Given the description of an element on the screen output the (x, y) to click on. 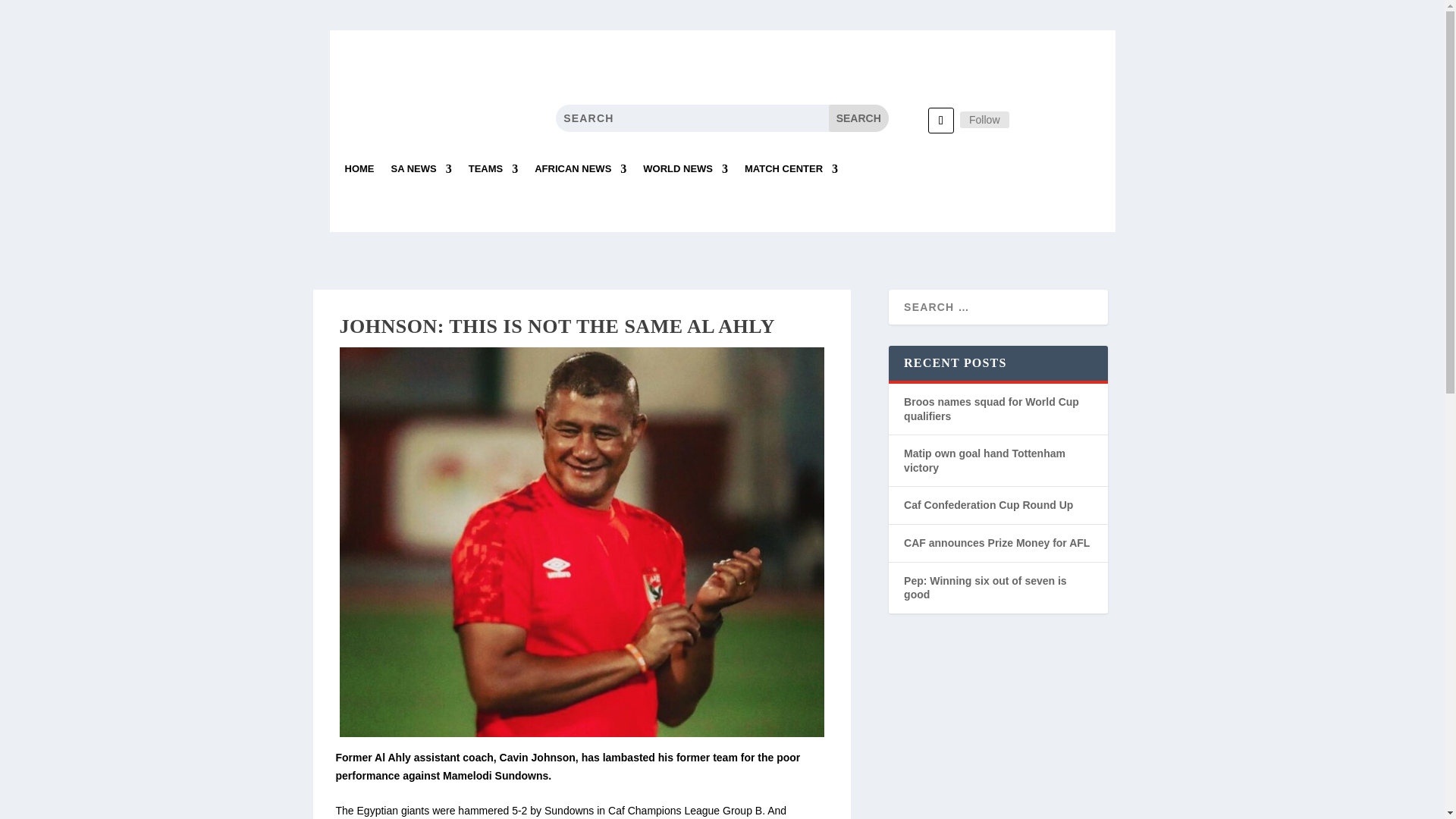
Follow on Twitter (940, 120)
WORLD NEWS (685, 173)
Search (858, 117)
Search (858, 117)
AFRICAN NEWS (580, 173)
Follow (984, 119)
TEAMS (493, 173)
Search (858, 117)
SA NEWS (421, 173)
HOME (358, 173)
Twitter (984, 119)
